Given the description of an element on the screen output the (x, y) to click on. 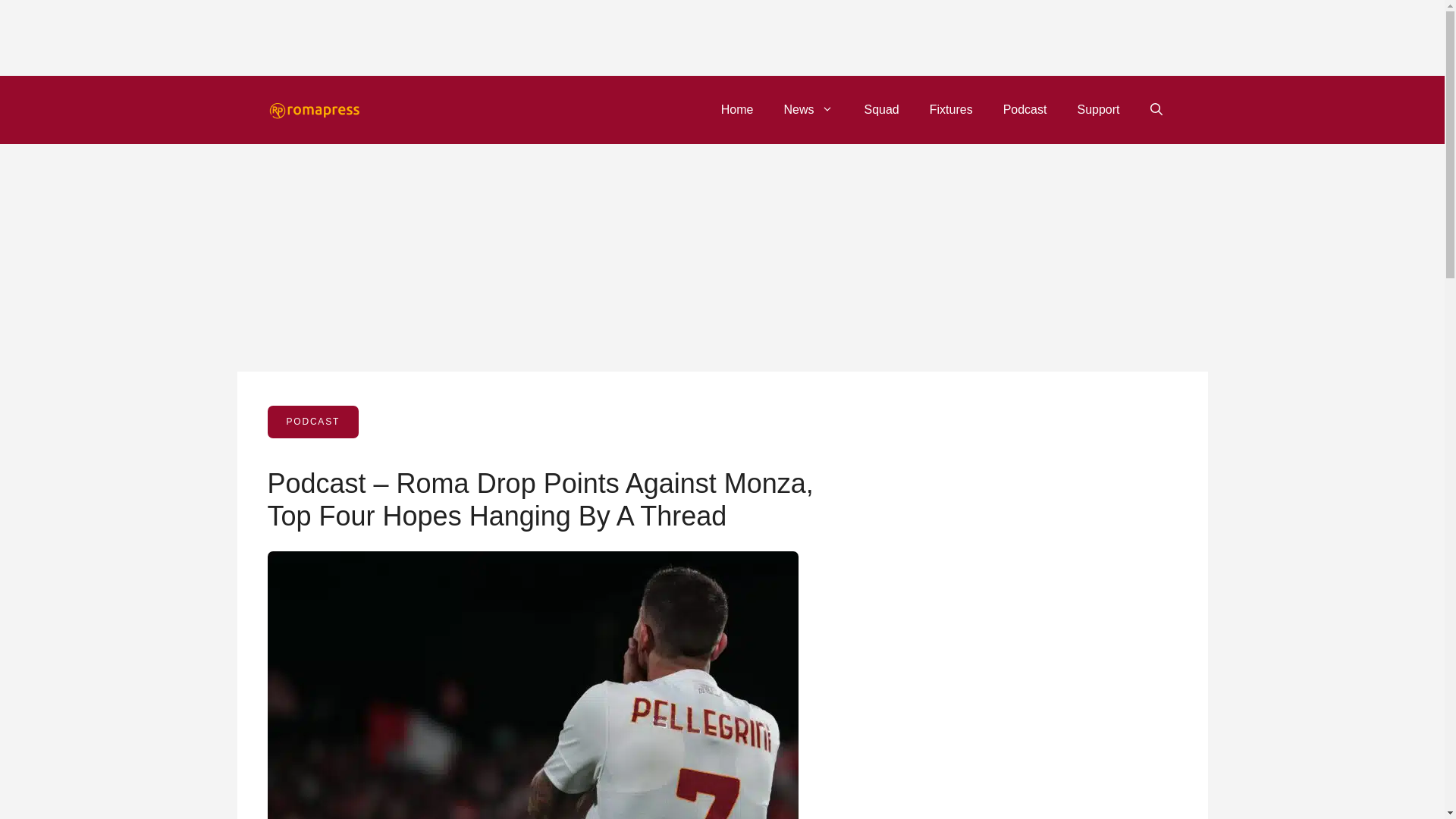
Home (737, 109)
News (808, 109)
Fixtures (951, 109)
Podcast (1025, 109)
Support (1097, 109)
Squad (881, 109)
